Given the description of an element on the screen output the (x, y) to click on. 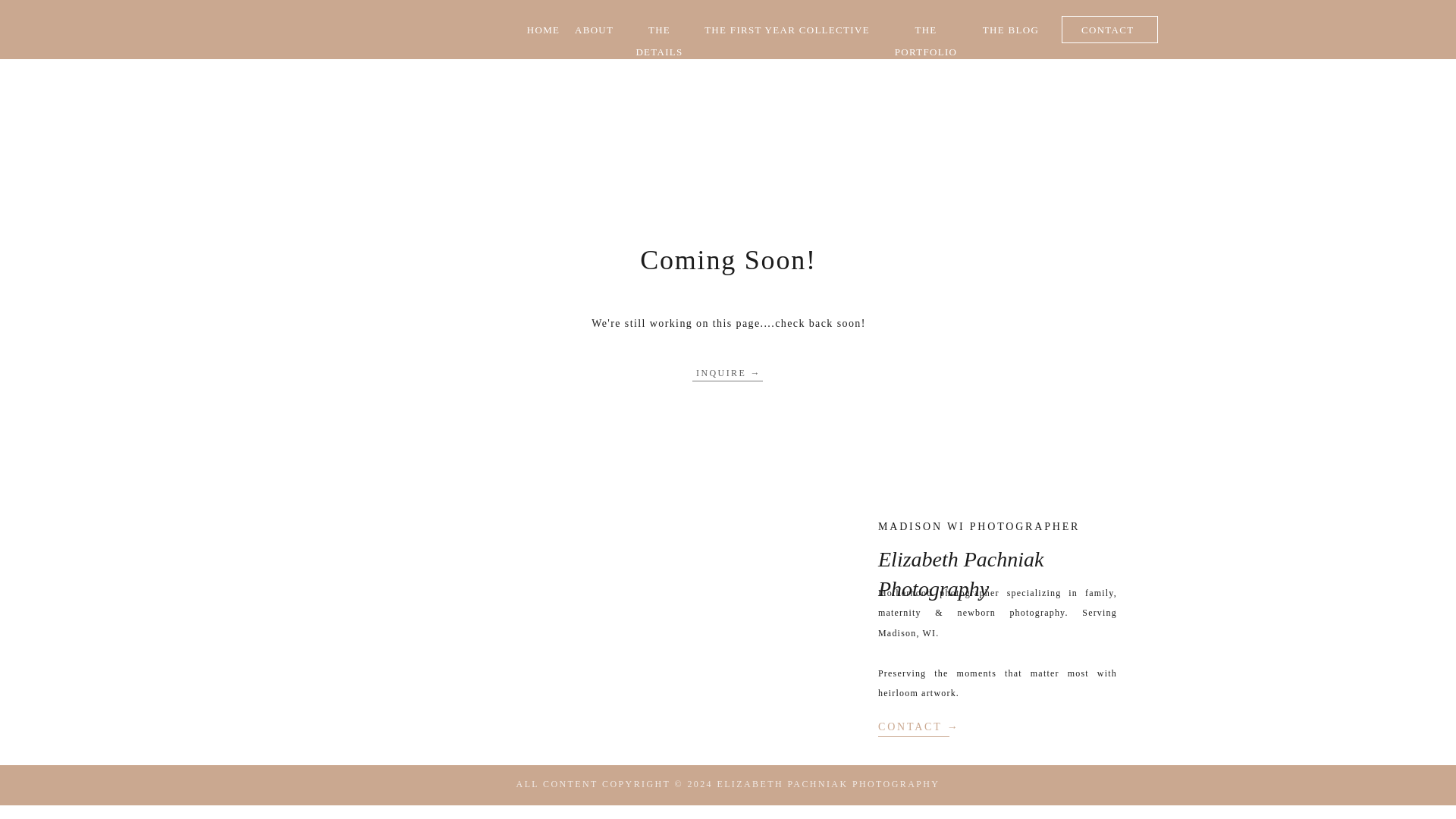
THE DETAILS (659, 29)
ABOUT (593, 29)
THE BLOG (1010, 29)
HOME (543, 29)
THE PORTFOLIO (925, 29)
CONTACT (1109, 29)
THE FIRST YEAR COLLECTIVE (786, 29)
